Given the description of an element on the screen output the (x, y) to click on. 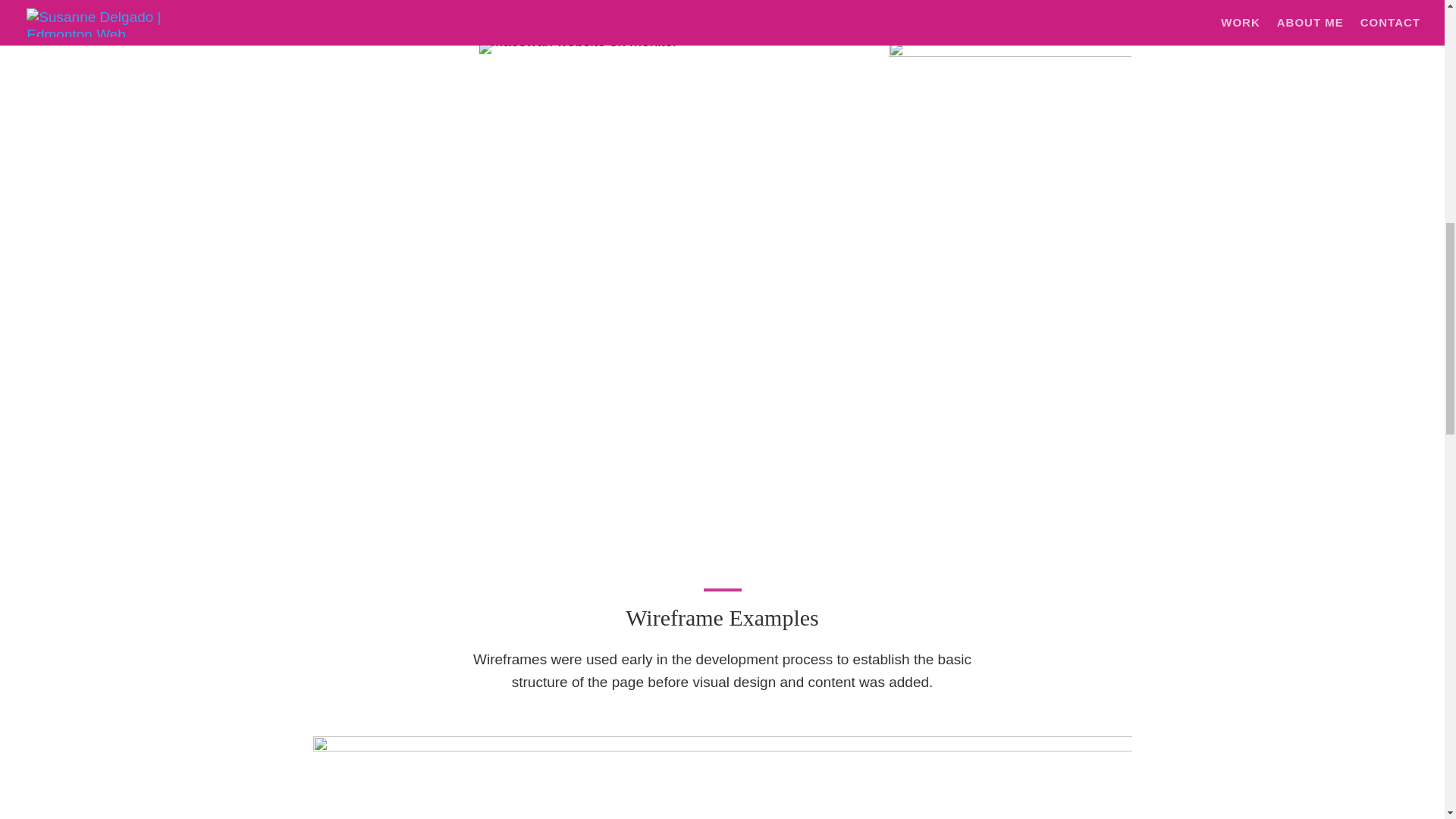
macewan-wireframe-nav (722, 777)
macewan-monitor (578, 47)
macewan-phone (1009, 284)
